Given the description of an element on the screen output the (x, y) to click on. 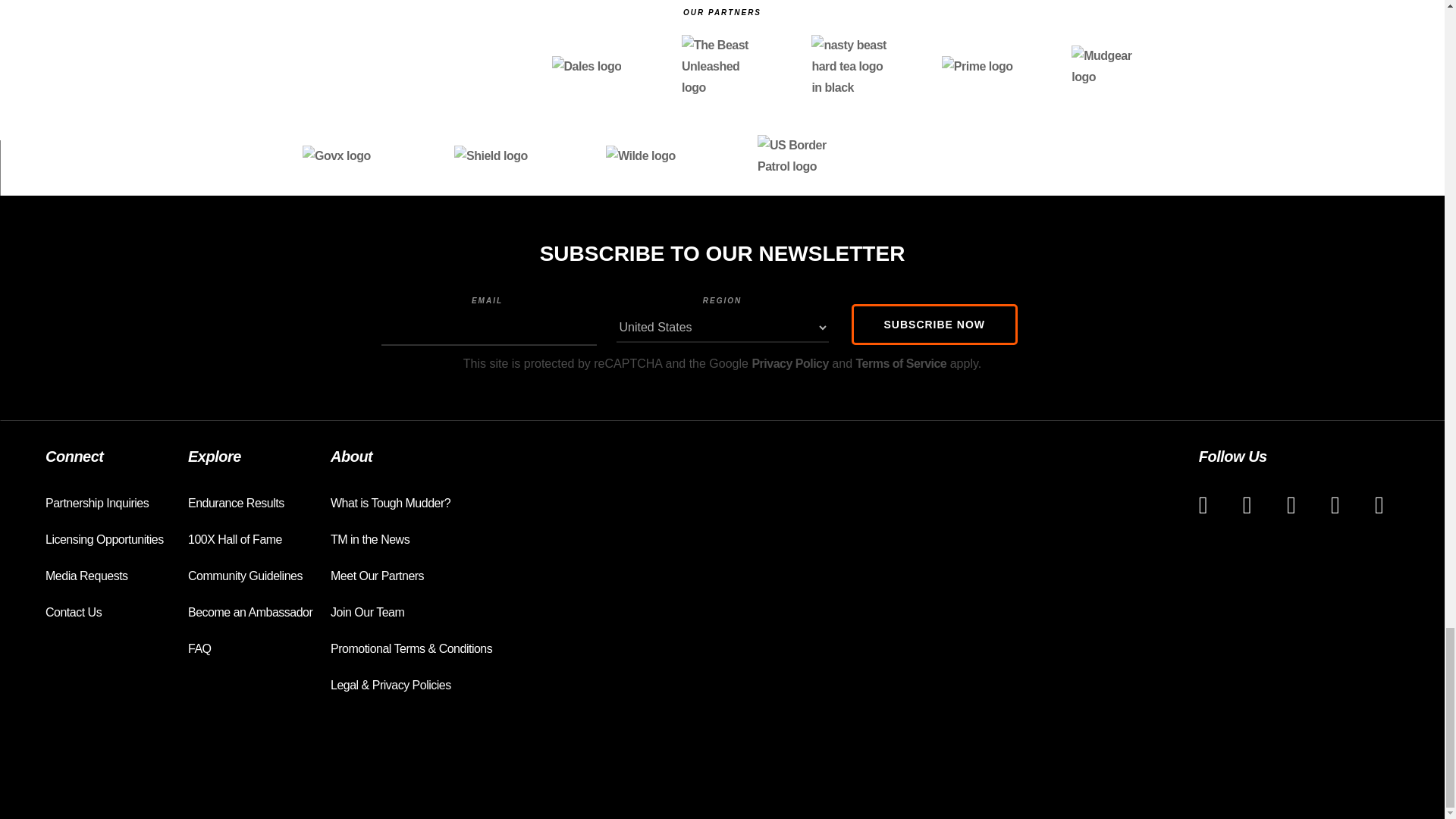
SUBSCRIBE NOW (933, 323)
